Given the description of an element on the screen output the (x, y) to click on. 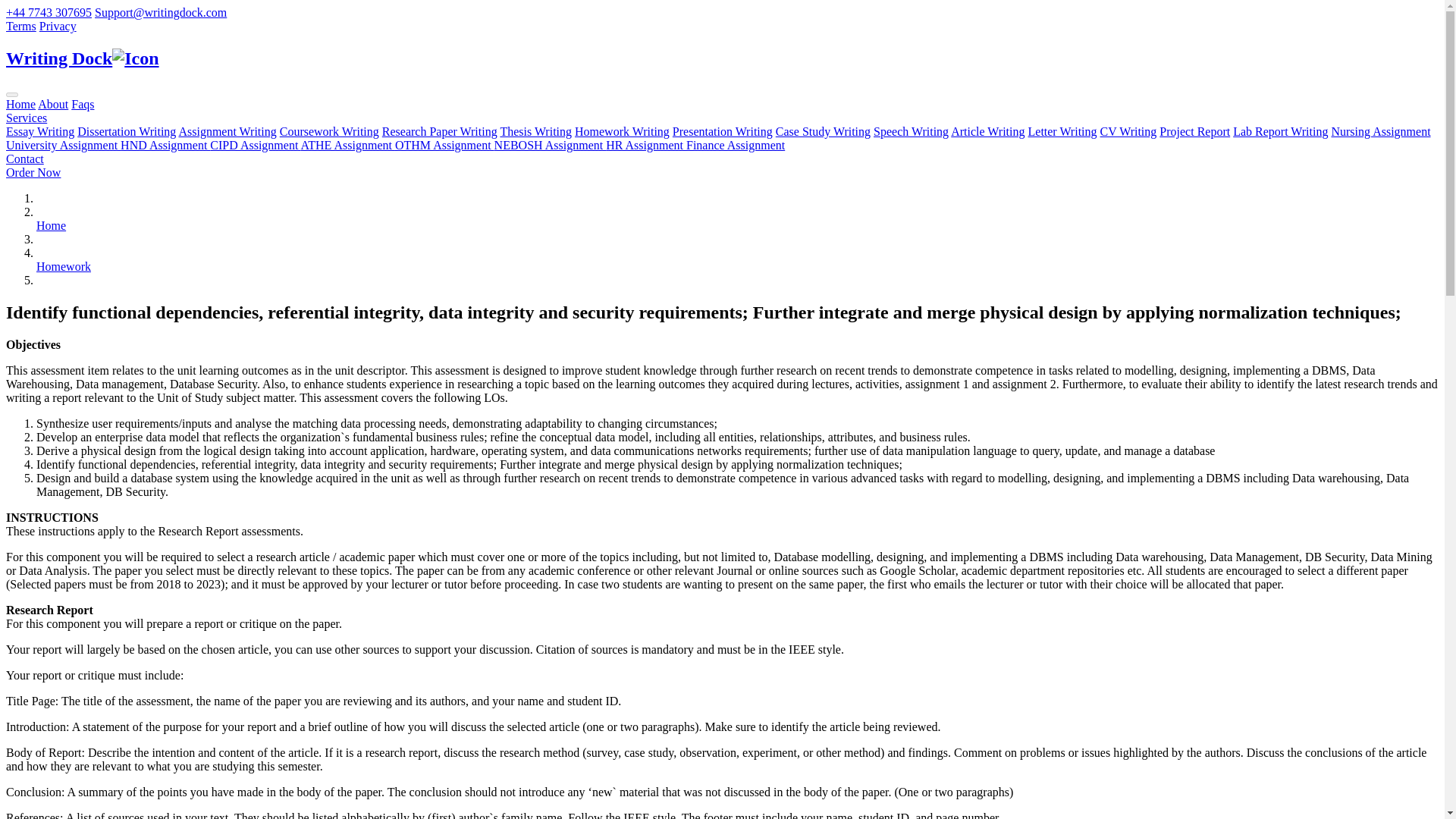
Lab Report Writing (1280, 131)
Privacy (58, 25)
Speech Writing (911, 131)
Assignment Writing (226, 131)
NEBOSH Assignment (551, 144)
Finance Assignment (734, 144)
Order Now (33, 172)
Homework Writing (622, 131)
Coursework Writing (328, 131)
Project Report (1194, 131)
Article Writing (987, 131)
HR Assignment (645, 144)
CIPD Assignment (254, 144)
University Assignment (62, 144)
HND Assignment (164, 144)
